Given the description of an element on the screen output the (x, y) to click on. 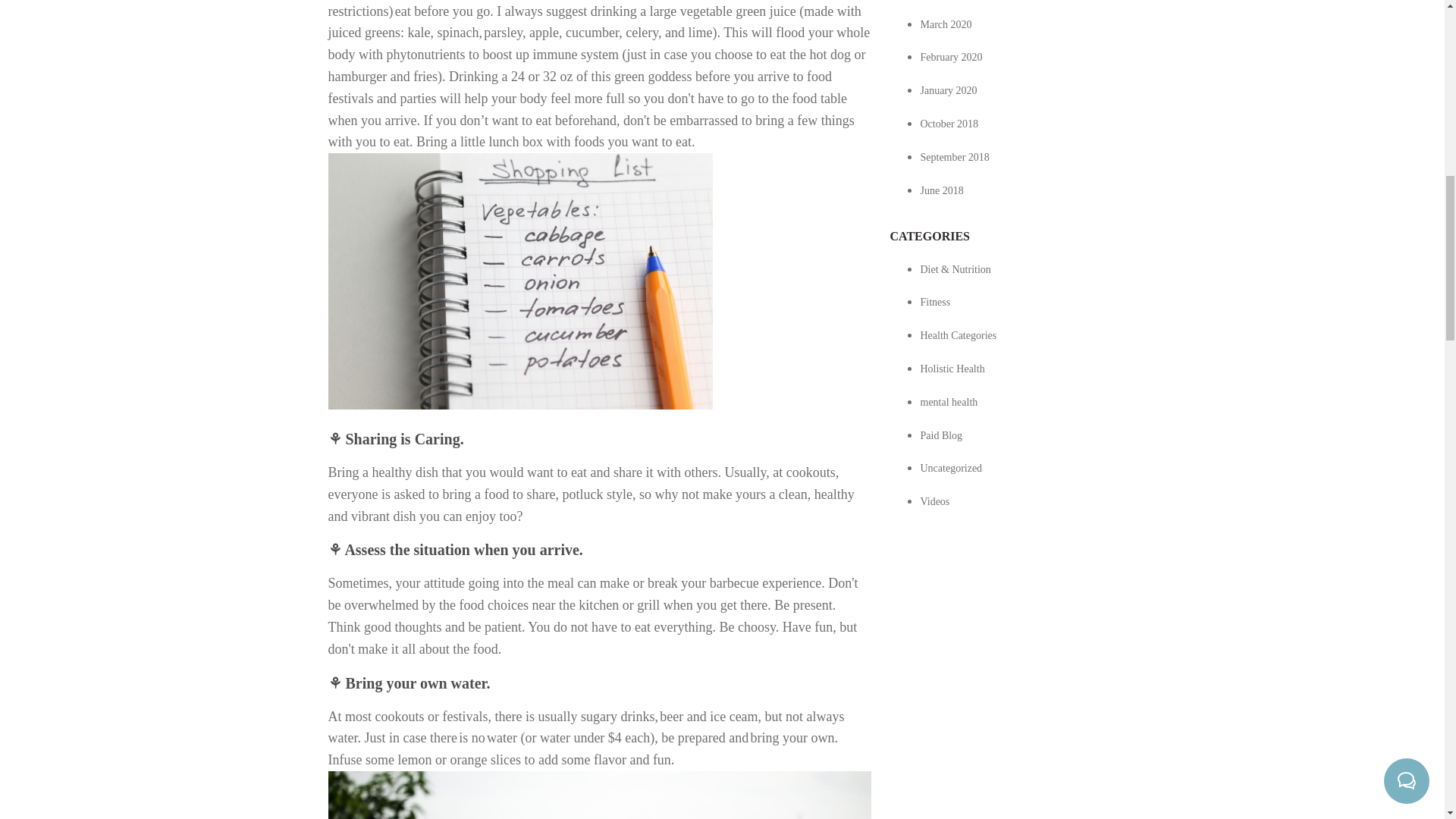
February 2020 (951, 57)
March 2020 (946, 24)
October 2018 (949, 123)
September 2018 (955, 156)
January 2020 (948, 90)
